Given the description of an element on the screen output the (x, y) to click on. 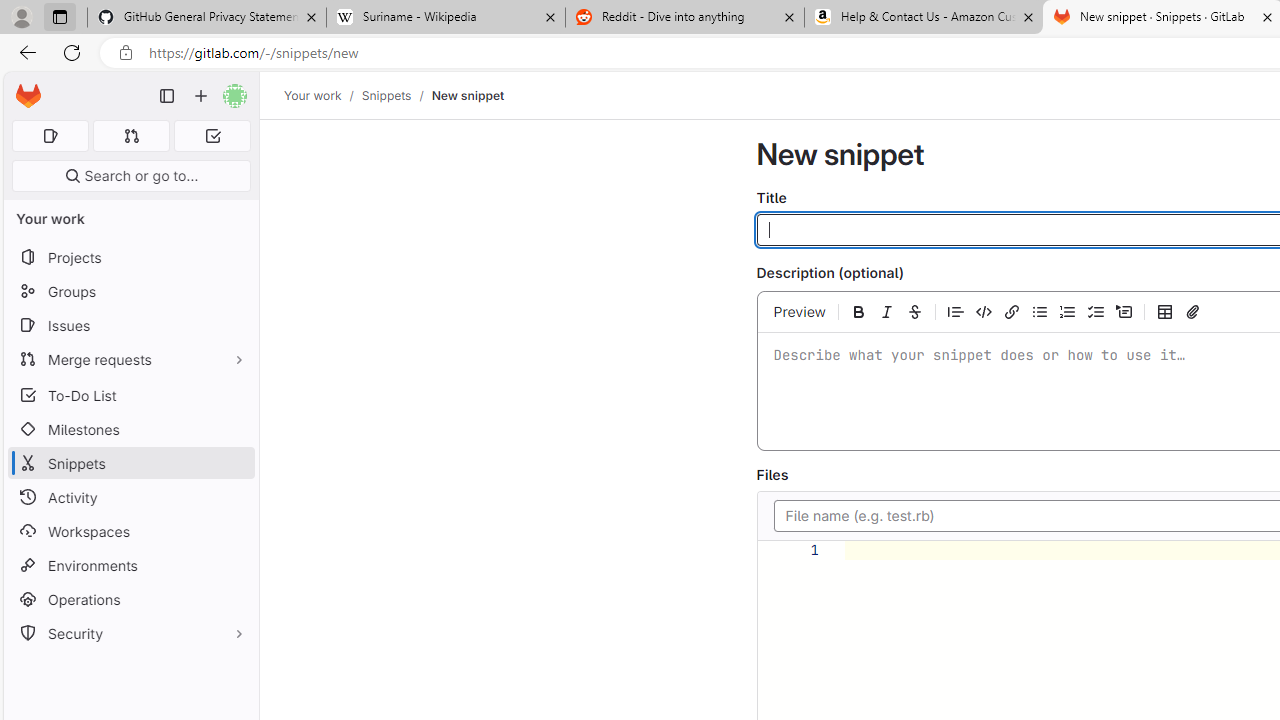
Environments (130, 564)
Issues (130, 325)
Add bold text (Ctrl+B) (858, 311)
Suriname - Wikipedia (445, 17)
Snippets (130, 463)
Projects (130, 257)
GitHub General Privacy Statement - GitHub Docs (207, 17)
New snippet (468, 95)
New snippet (468, 95)
Your work/ (323, 95)
Insert code (983, 311)
Activity (130, 497)
Add italic text (Ctrl+I) (886, 311)
Add a link (Ctrl+K) (1011, 311)
